Given the description of an element on the screen output the (x, y) to click on. 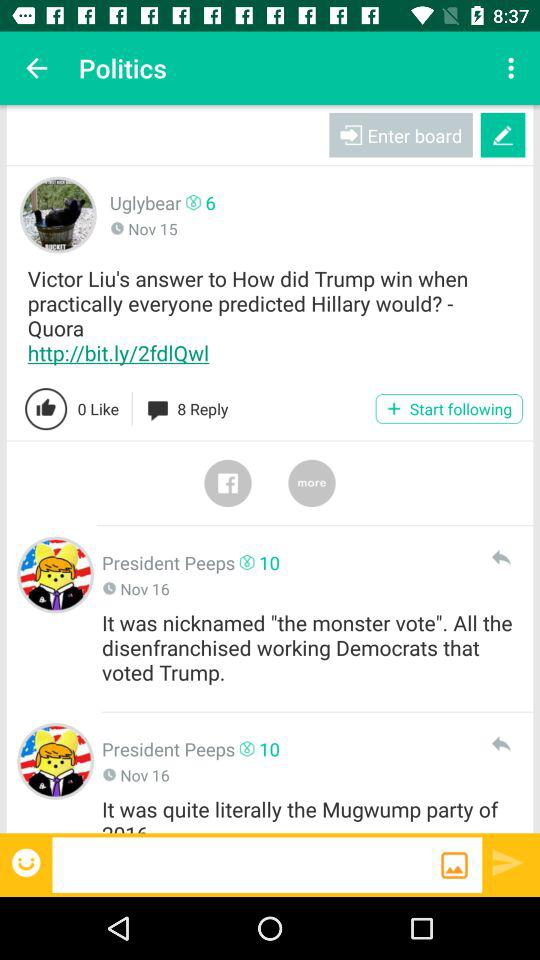
select the send option (508, 862)
